Given the description of an element on the screen output the (x, y) to click on. 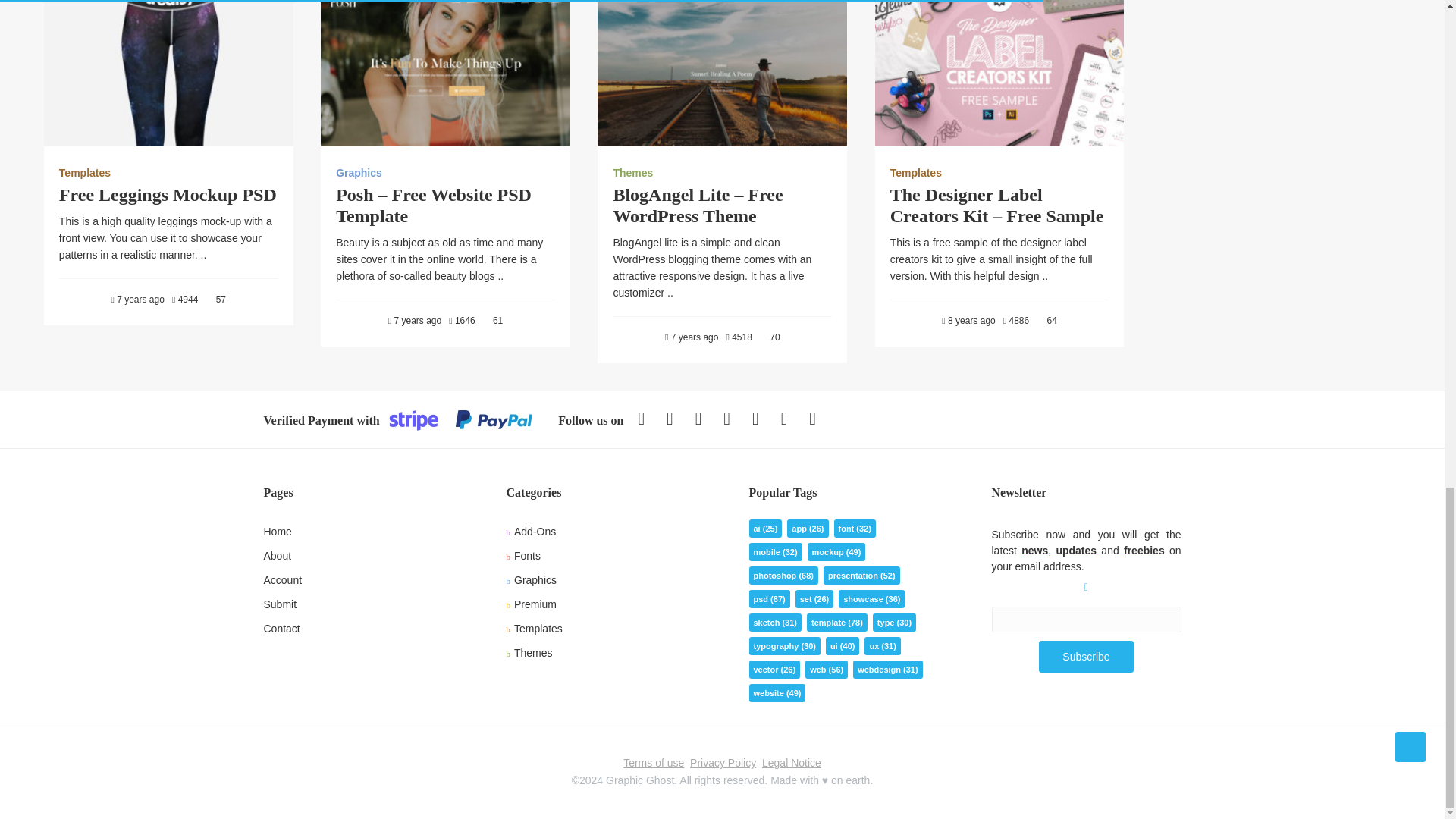
Like this (1046, 320)
Like this (215, 299)
Like this (491, 320)
Like this (768, 337)
Subscribe (1086, 656)
